Given the description of an element on the screen output the (x, y) to click on. 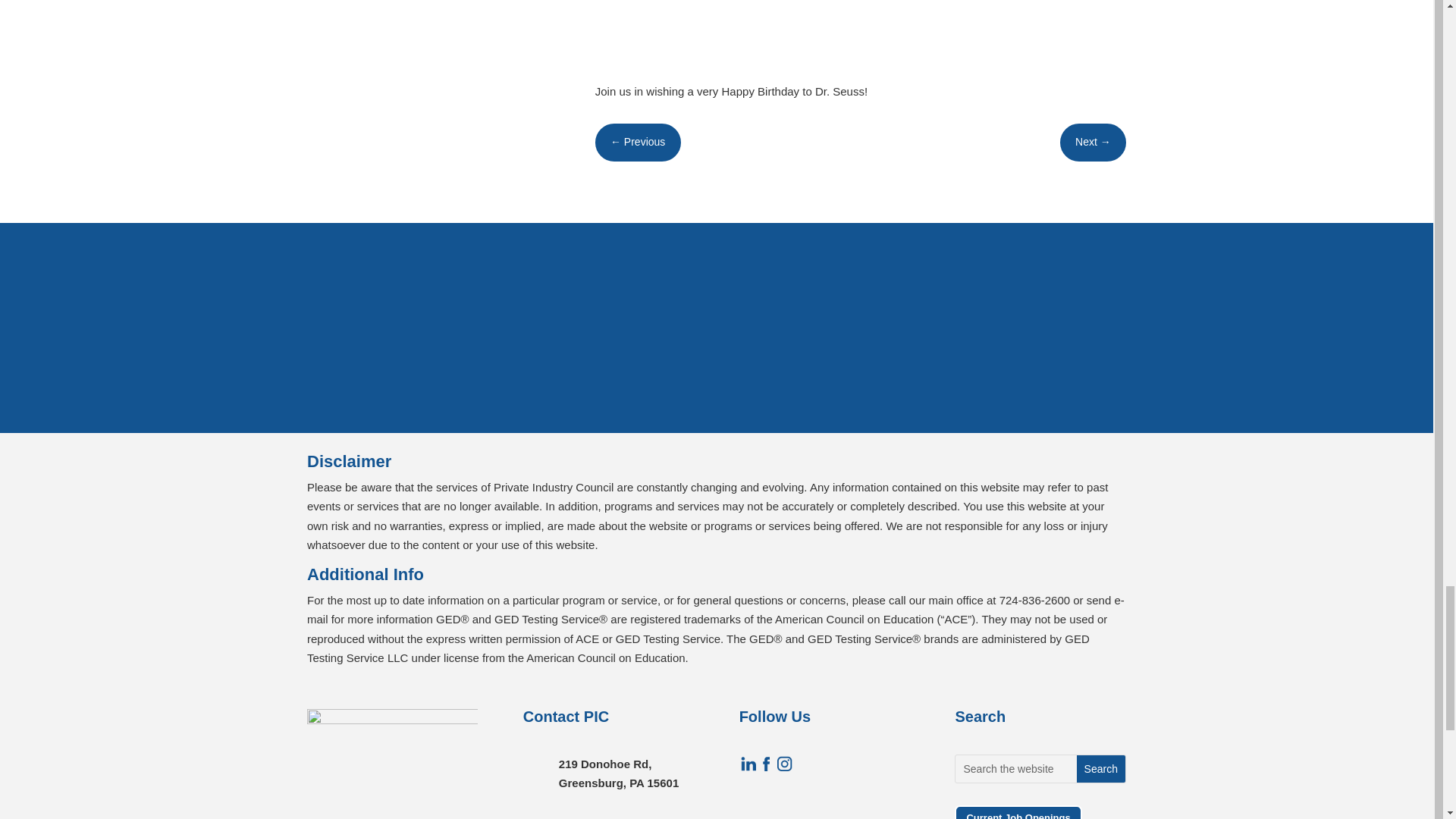
Search (1101, 768)
logo (392, 761)
Search (1101, 768)
